Given the description of an element on the screen output the (x, y) to click on. 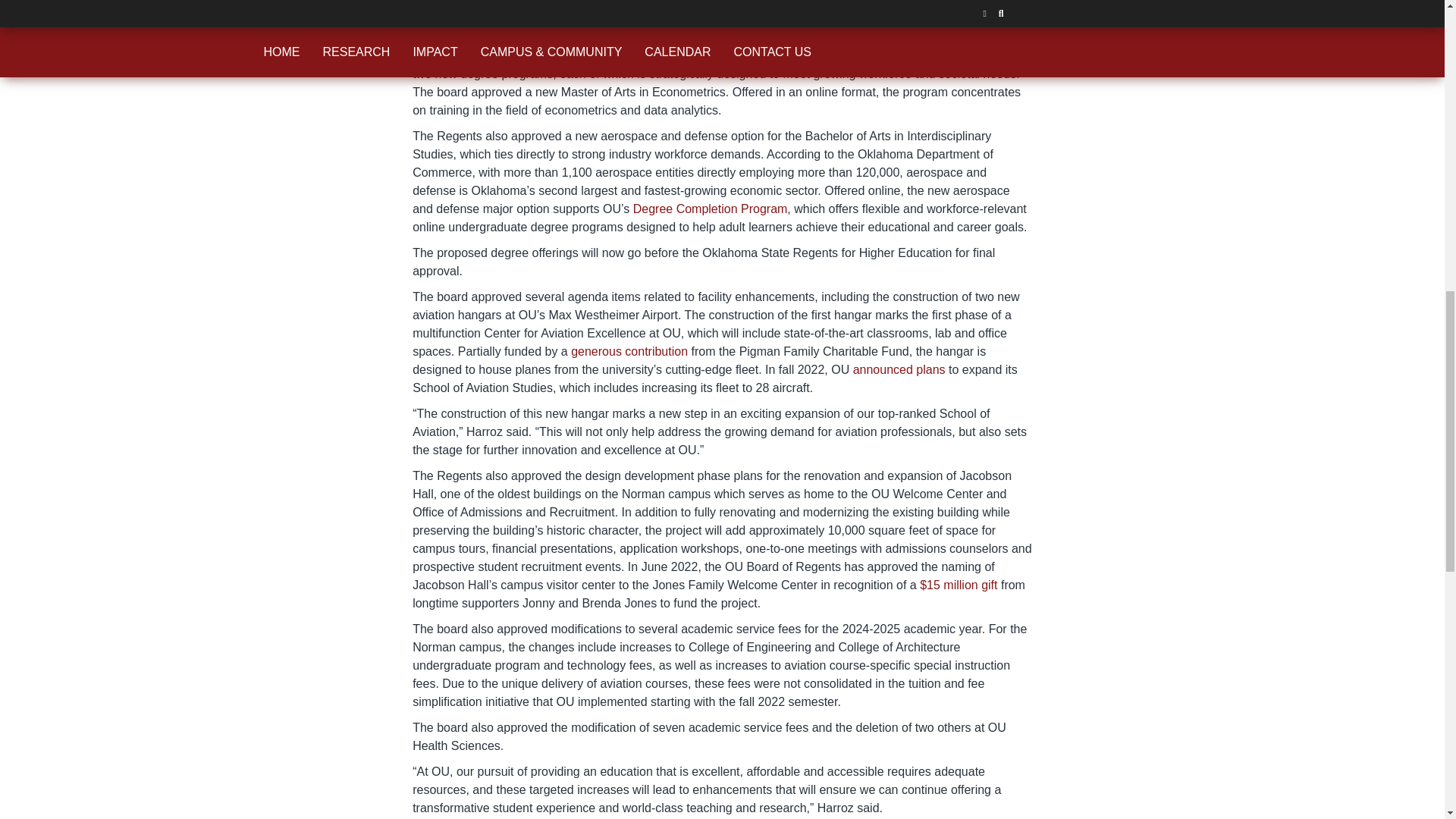
Degree Completion Program (710, 208)
generous contribution (628, 350)
announced plans (898, 369)
